Given the description of an element on the screen output the (x, y) to click on. 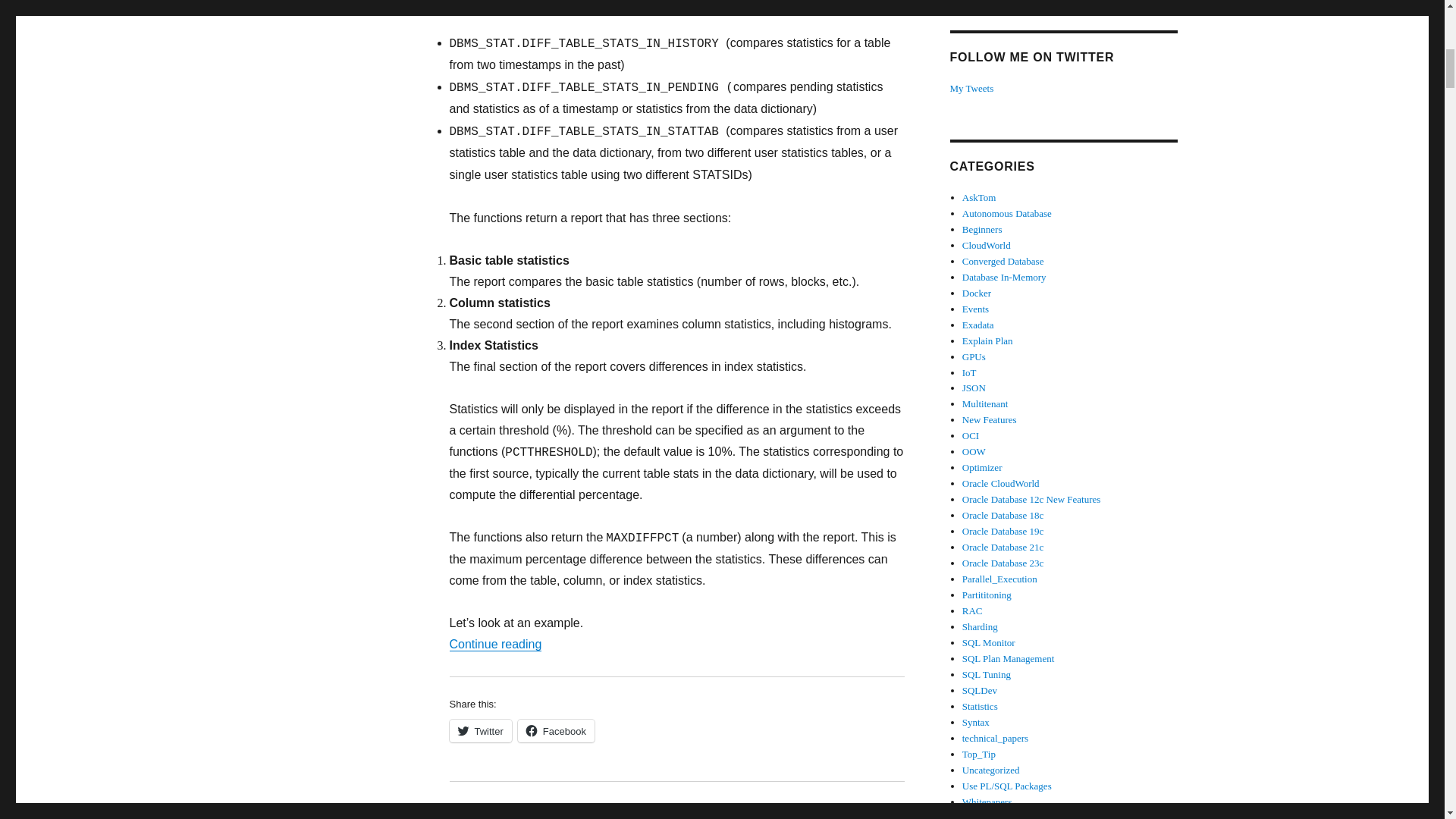
Click to share on Facebook (556, 730)
Twitter (479, 730)
Click to share on Twitter (479, 730)
Facebook (556, 730)
